Given the description of an element on the screen output the (x, y) to click on. 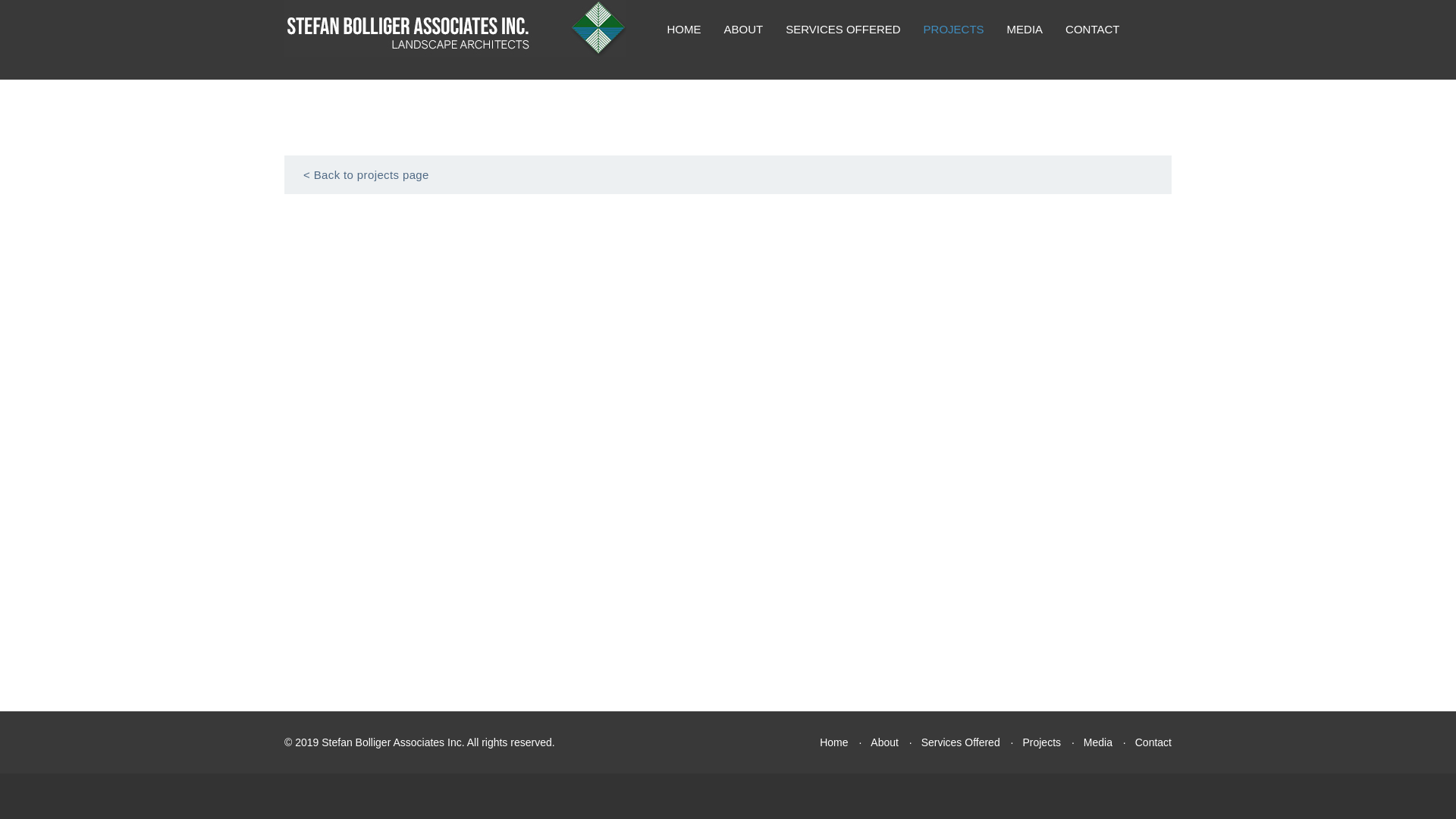
Home (833, 742)
About (884, 742)
HOME (683, 29)
MEDIA (1024, 29)
Services Offered (960, 742)
ABOUT (742, 29)
CONTACT (1092, 29)
Media (1097, 742)
Projects (1041, 742)
SERVICES OFFERED (842, 29)
